Given the description of an element on the screen output the (x, y) to click on. 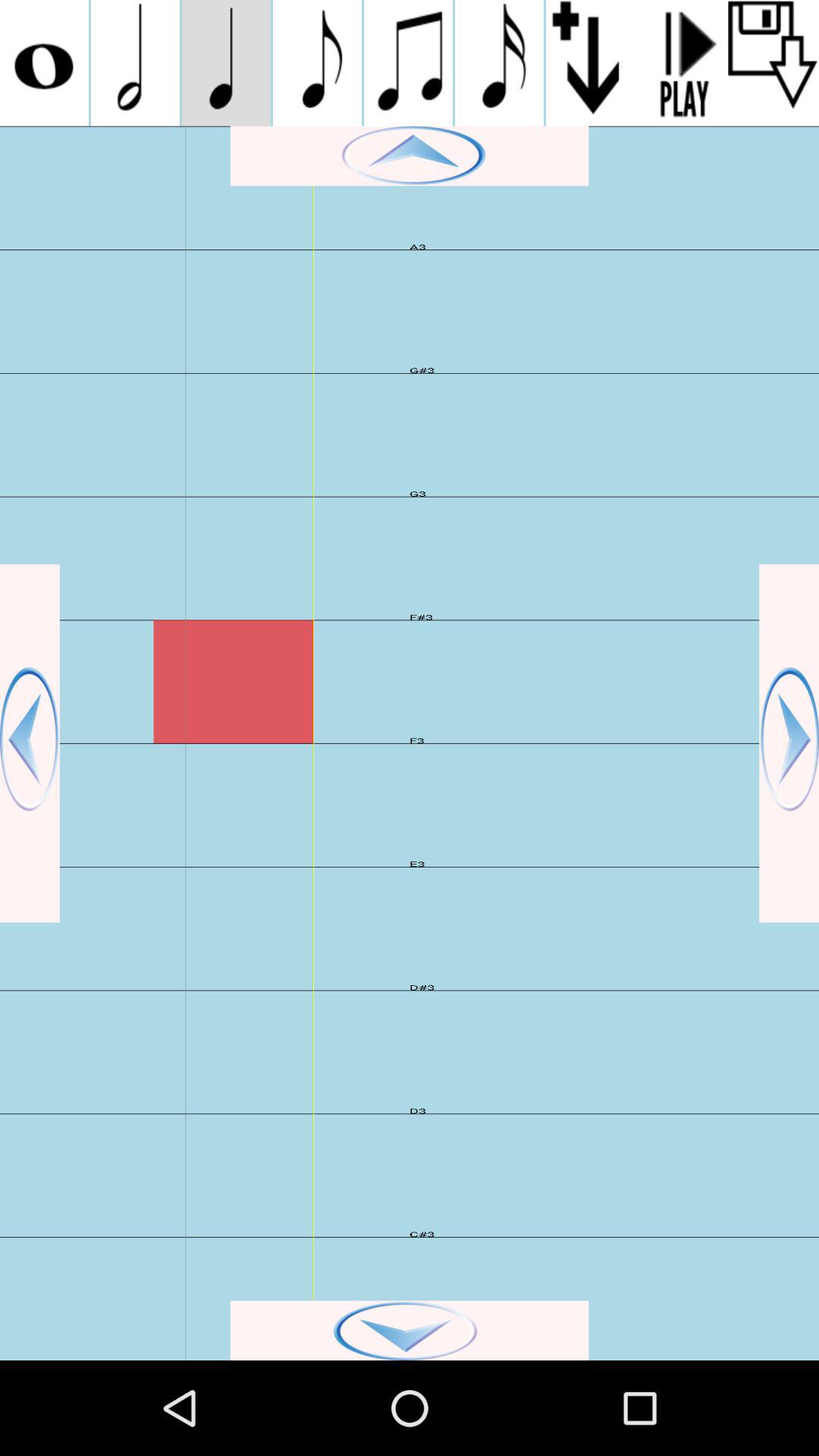
add row (591, 63)
